Given the description of an element on the screen output the (x, y) to click on. 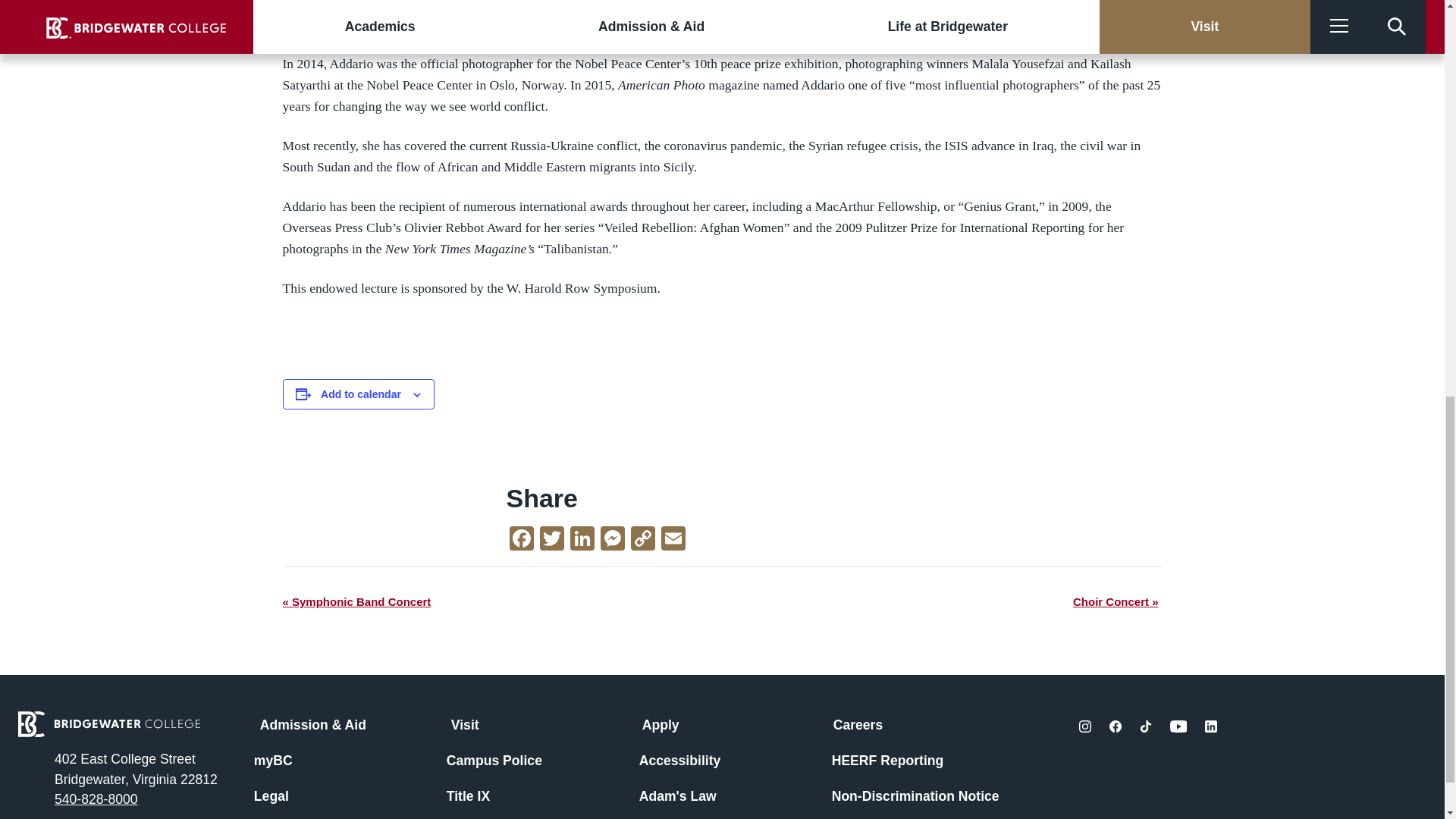
Messenger (611, 540)
social-facebook (1115, 726)
Twitter (552, 540)
LinkedIn (581, 540)
social-youtube (1178, 726)
Add to calendar (360, 394)
Email (673, 540)
Facebook (521, 540)
Copy Link (642, 540)
social-instagram-fill (1084, 726)
